Given the description of an element on the screen output the (x, y) to click on. 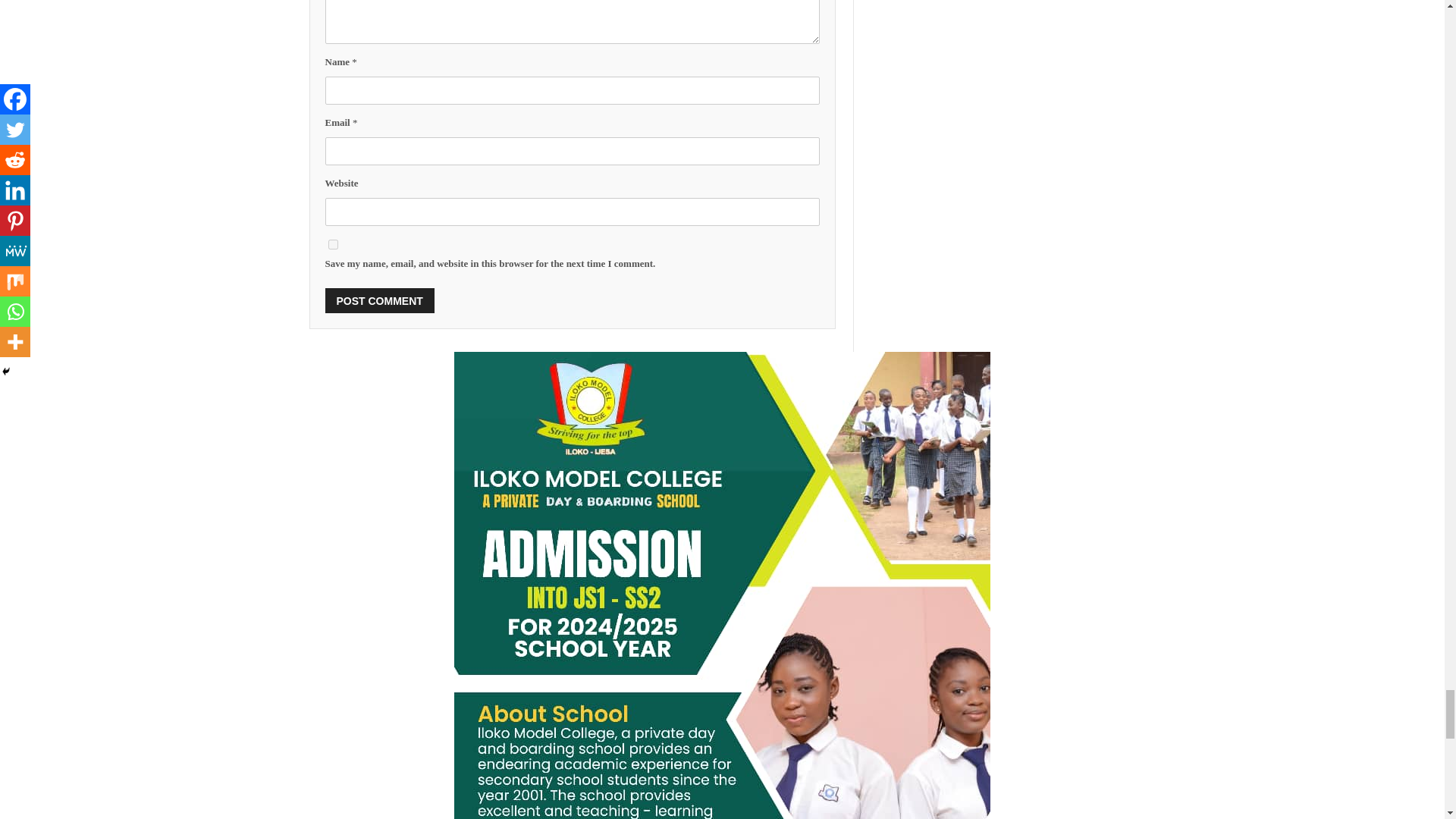
yes (332, 244)
Post Comment (378, 300)
